Given the description of an element on the screen output the (x, y) to click on. 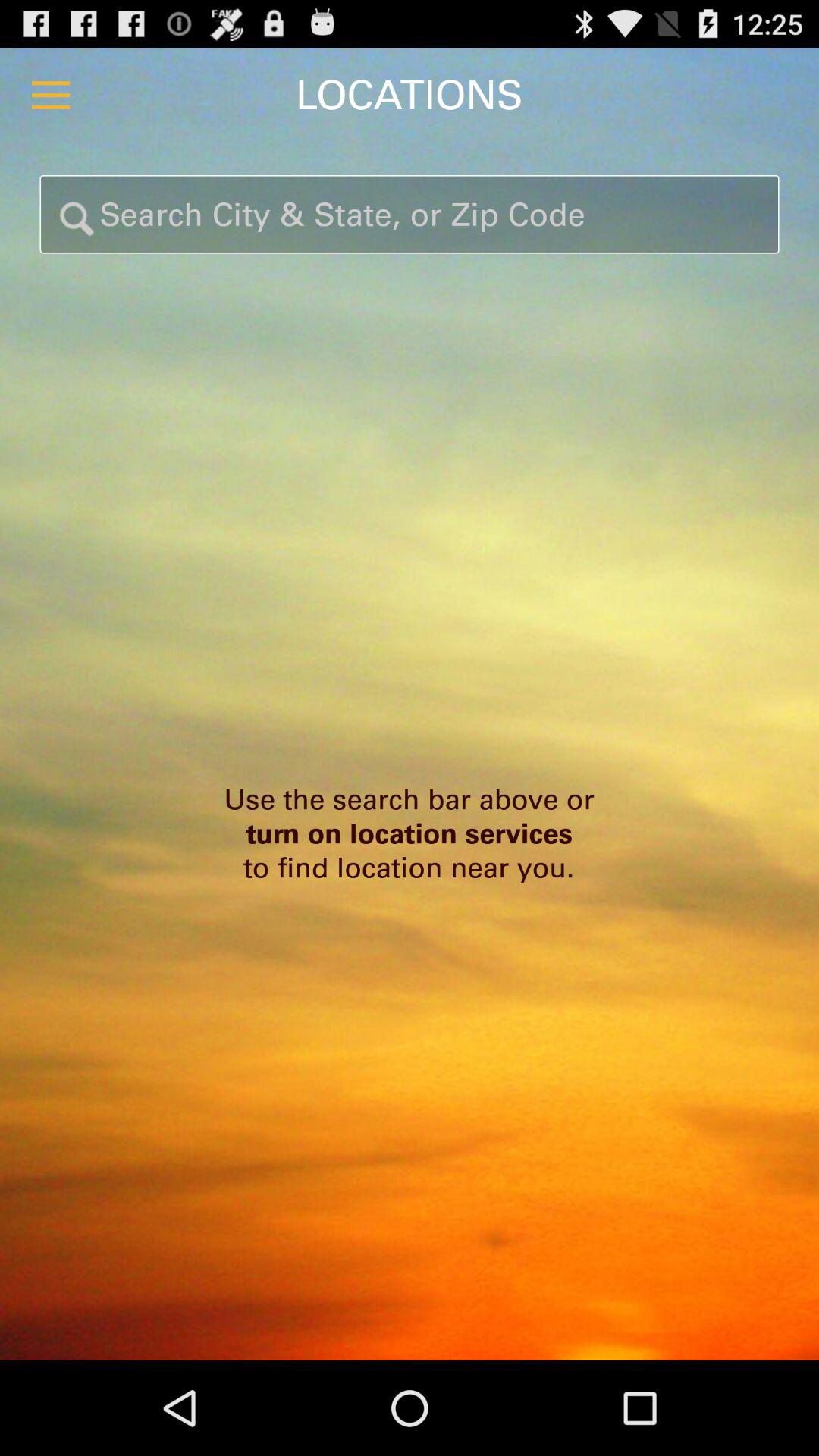
city state zip (409, 214)
